Given the description of an element on the screen output the (x, y) to click on. 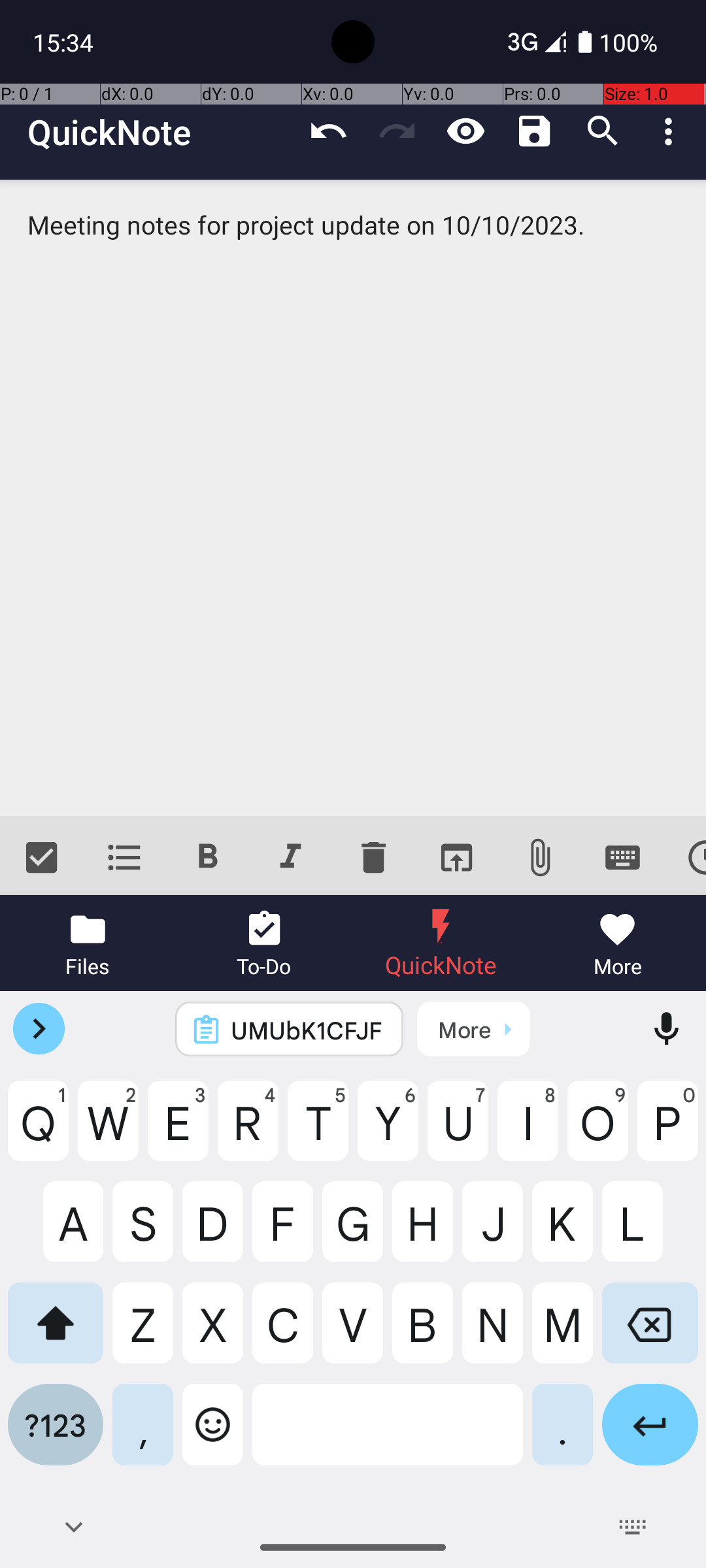
Meeting notes for project update on 10/10/2023.
 Element type: android.widget.EditText (353, 497)
UMUbK1CFJF Element type: android.widget.TextView (306, 1029)
